Given the description of an element on the screen output the (x, y) to click on. 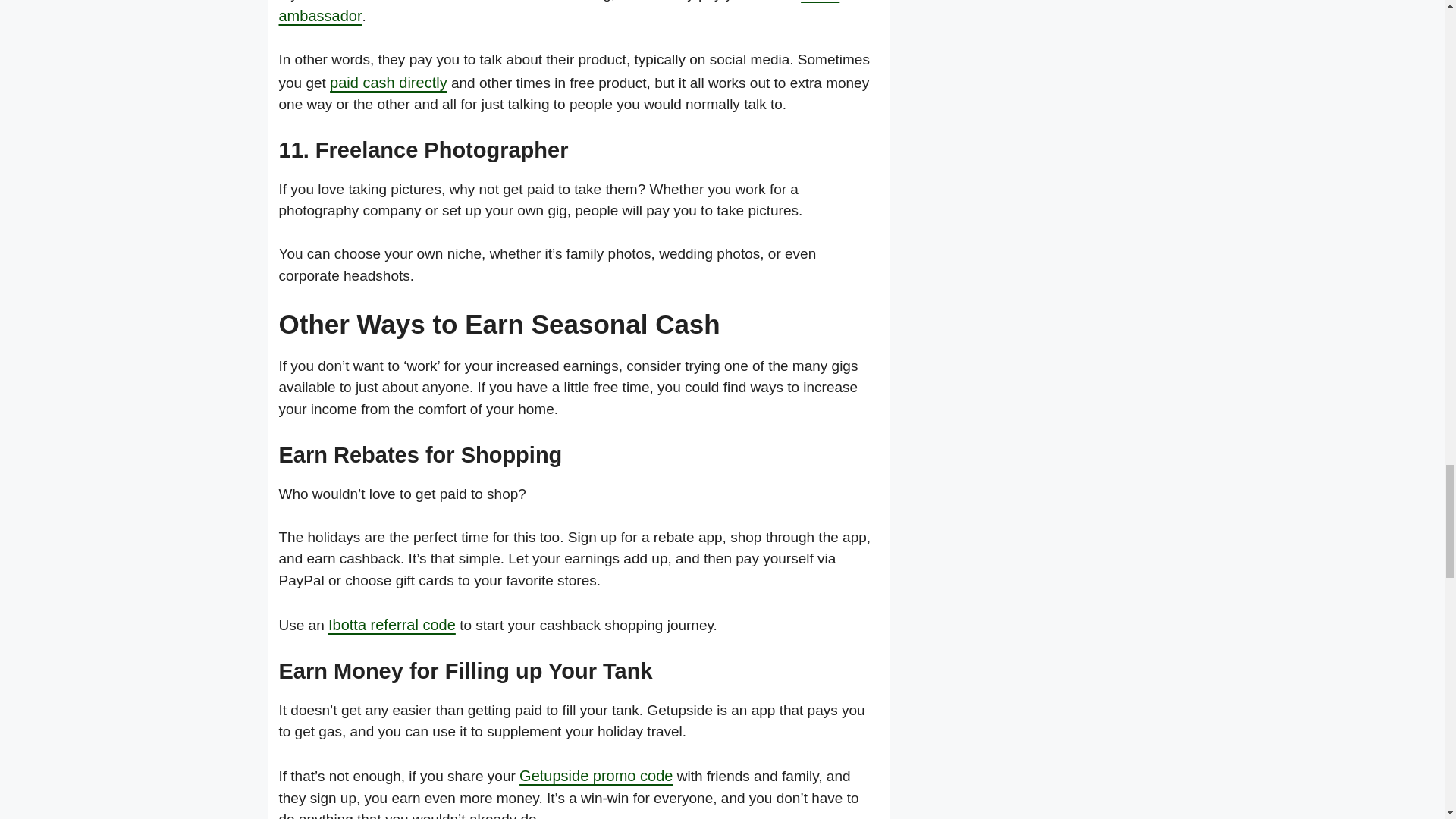
Getupside promo code (595, 775)
paid cash directly (388, 82)
Ibotta referral code (392, 624)
brand ambassador (559, 12)
